Given the description of an element on the screen output the (x, y) to click on. 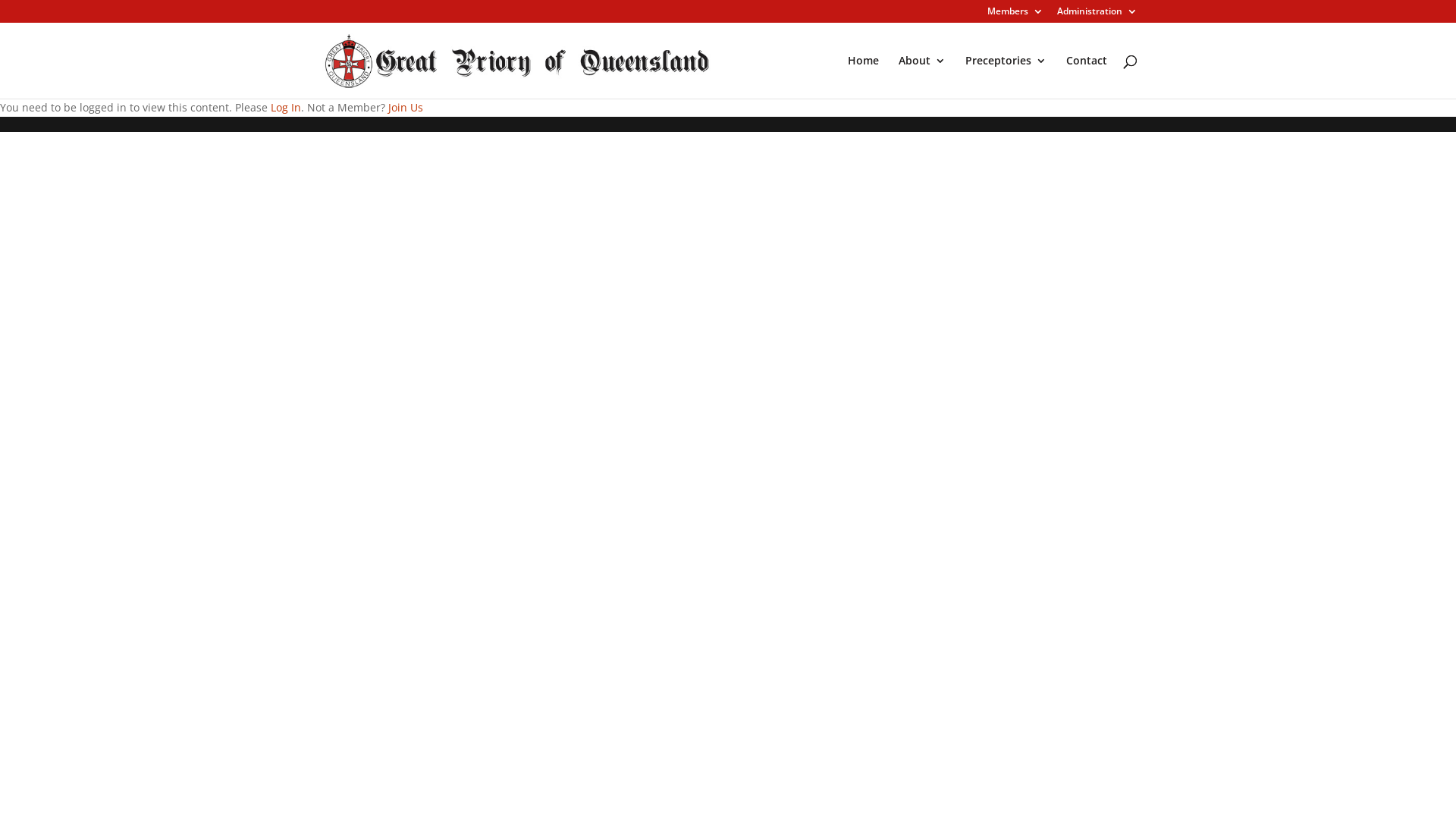
About Element type: text (921, 76)
Log In Element type: text (285, 107)
Contact Element type: text (1086, 76)
Join Us Element type: text (405, 107)
Home Element type: text (862, 76)
Preceptories Element type: text (1005, 76)
Members Element type: text (1015, 14)
Administration Element type: text (1097, 14)
